Given the description of an element on the screen output the (x, y) to click on. 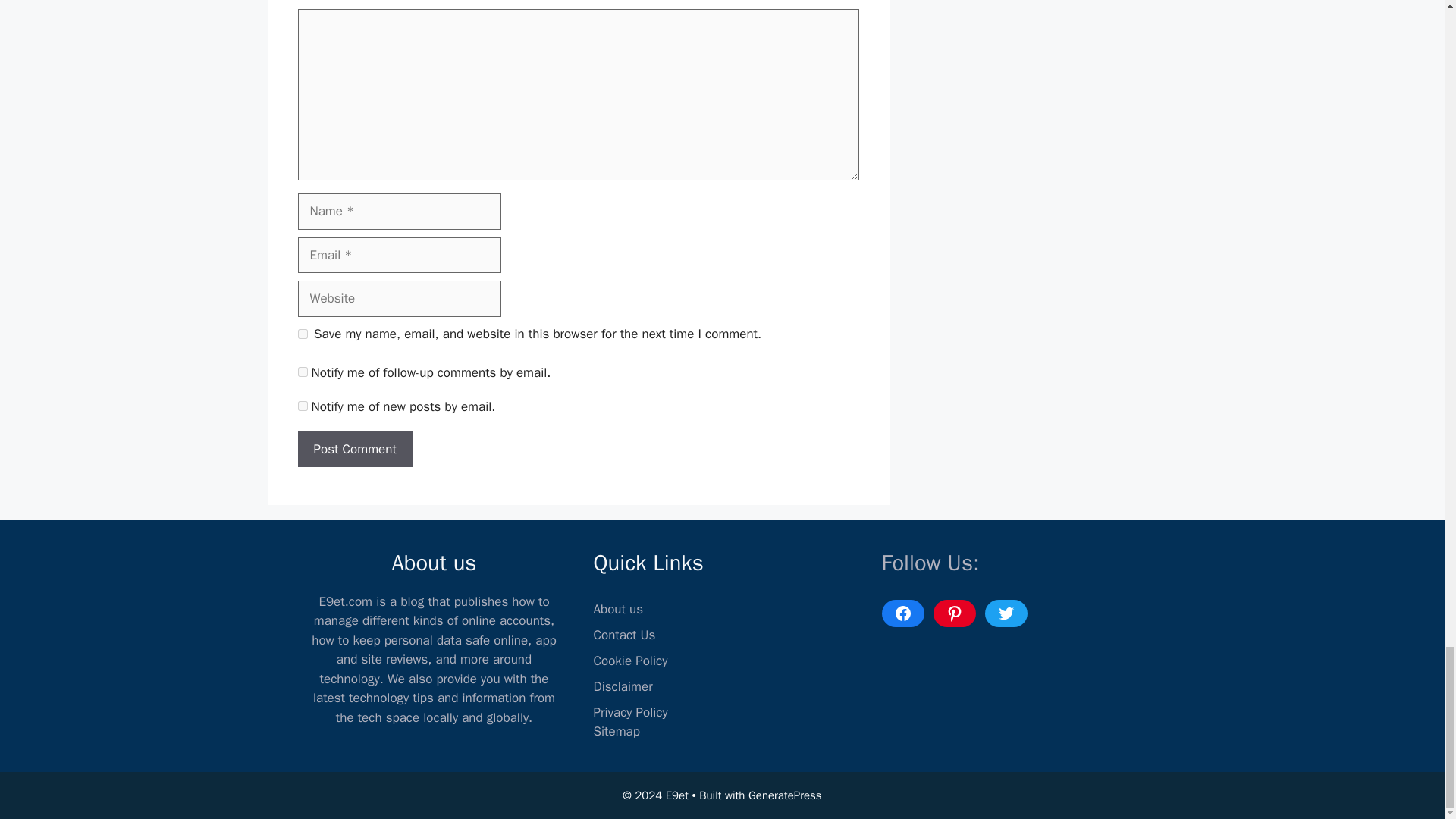
Blackboard Humber Site Page For Users (746, 729)
Webmail Telkom Site Page For Users (367, 729)
Webmail Telkom Site Page For Users (367, 729)
Peel Vista Page Site For Users (553, 721)
Blackboard Humber Site Page For Users (746, 729)
Peel Vista Page Site For Users (553, 721)
